Given the description of an element on the screen output the (x, y) to click on. 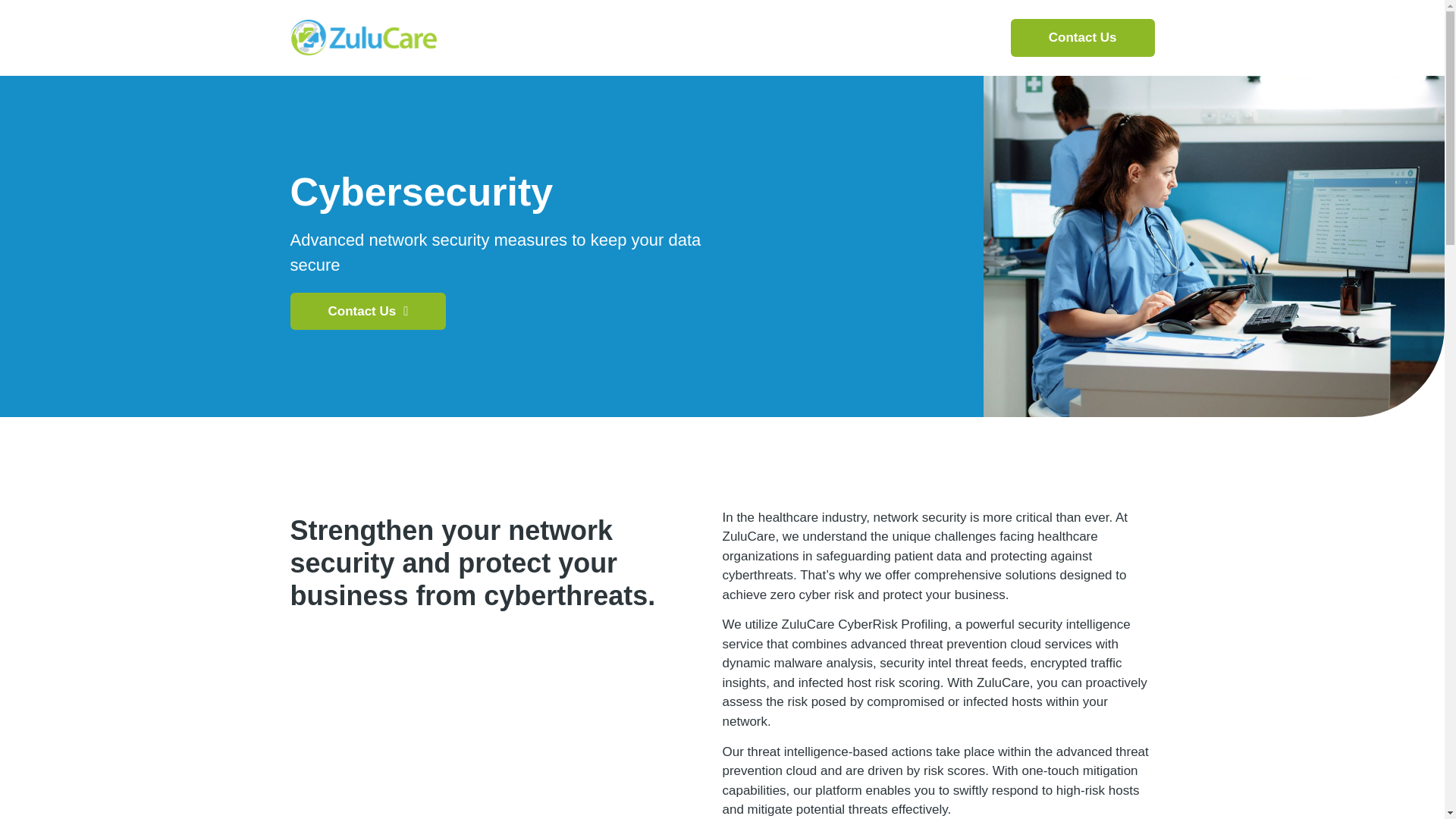
Locations (891, 37)
About (542, 37)
Solutions (620, 37)
Services (707, 37)
Resources (797, 37)
